Given the description of an element on the screen output the (x, y) to click on. 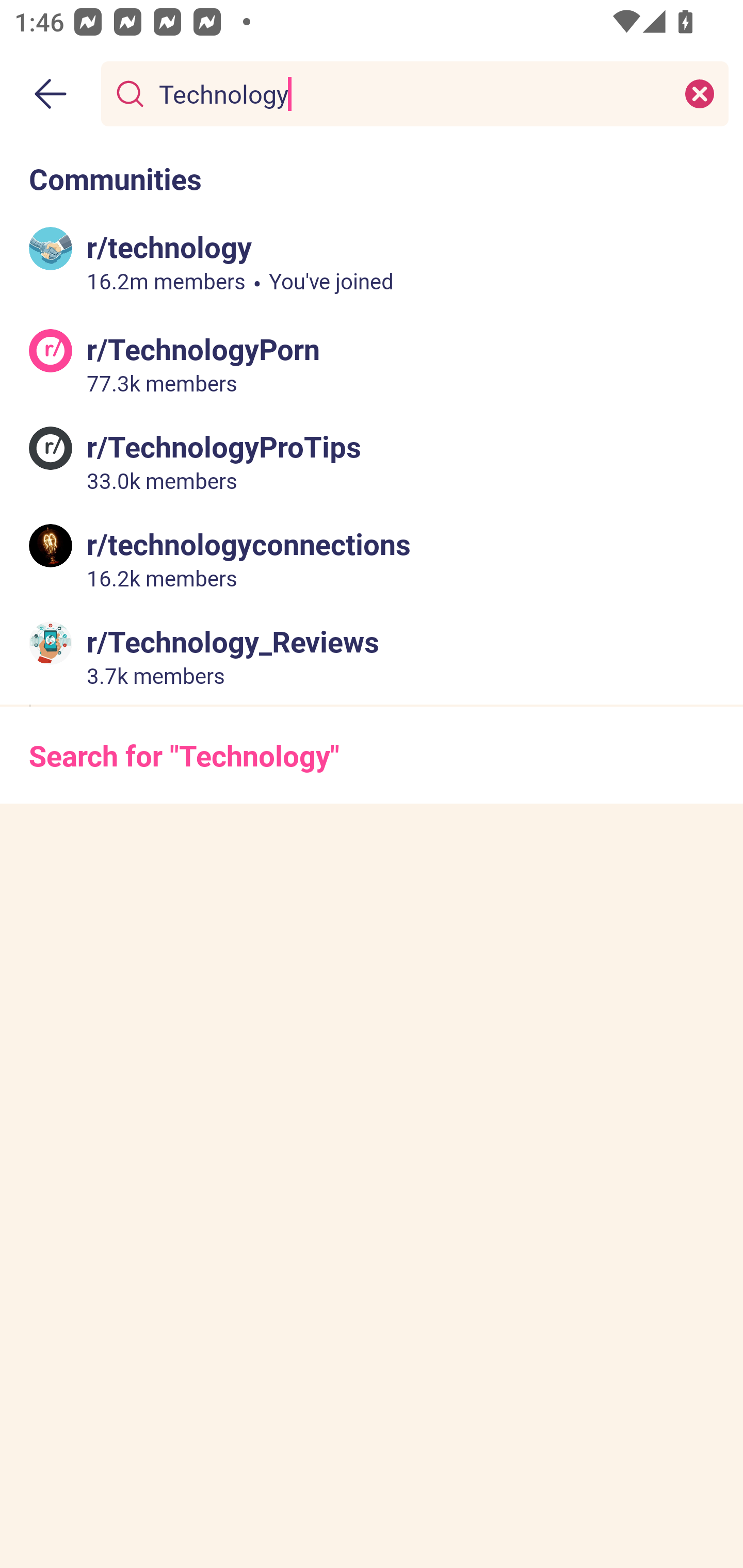
Back (50, 93)
Technology (410, 93)
Clear search (699, 93)
Search for "Technology" (371, 754)
